Given the description of an element on the screen output the (x, y) to click on. 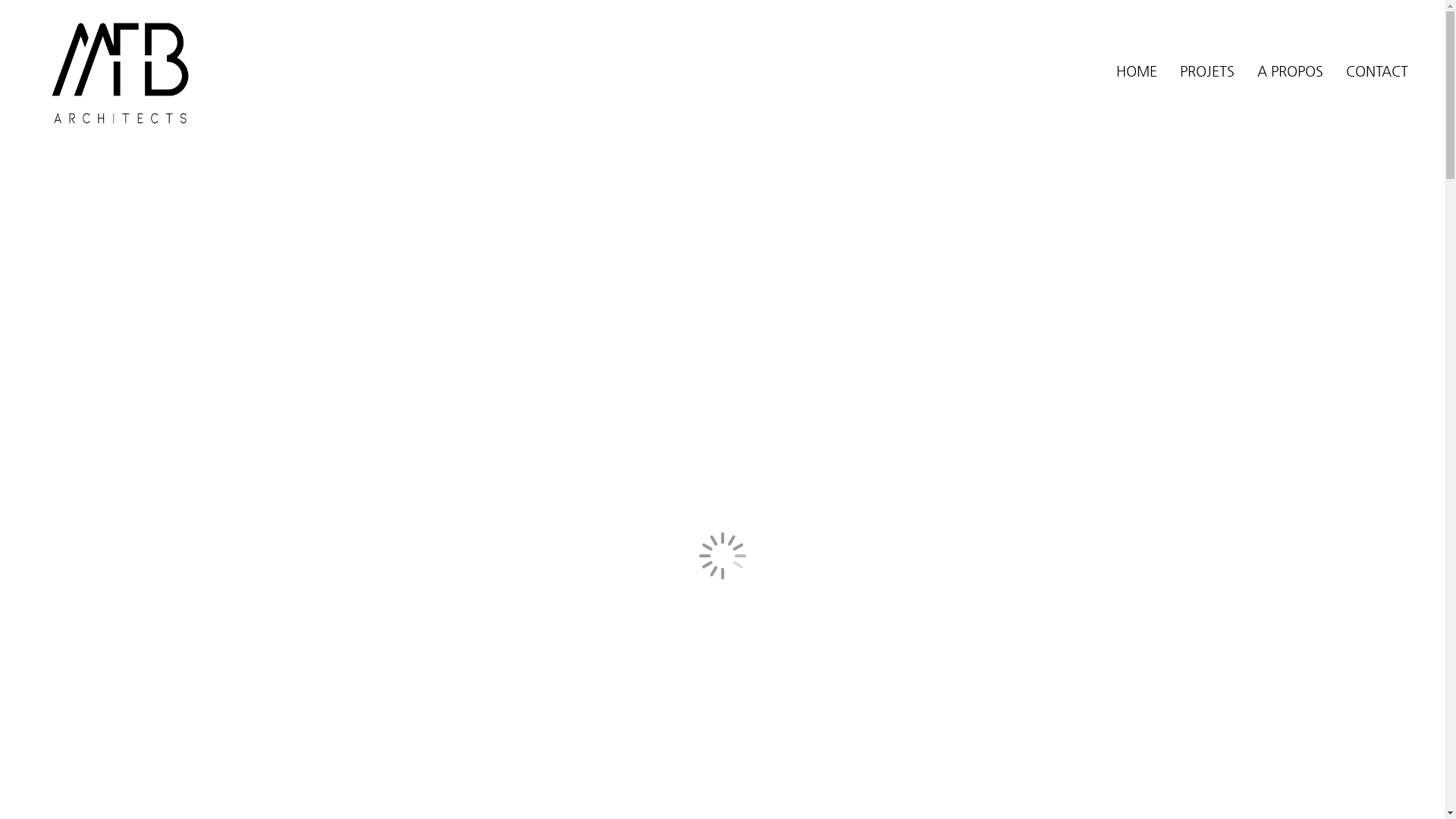
PROJETS Element type: text (1206, 71)
HOME Element type: text (1136, 71)
A PROPOS Element type: text (1289, 71)
CONTACT Element type: text (1376, 71)
